Given the description of an element on the screen output the (x, y) to click on. 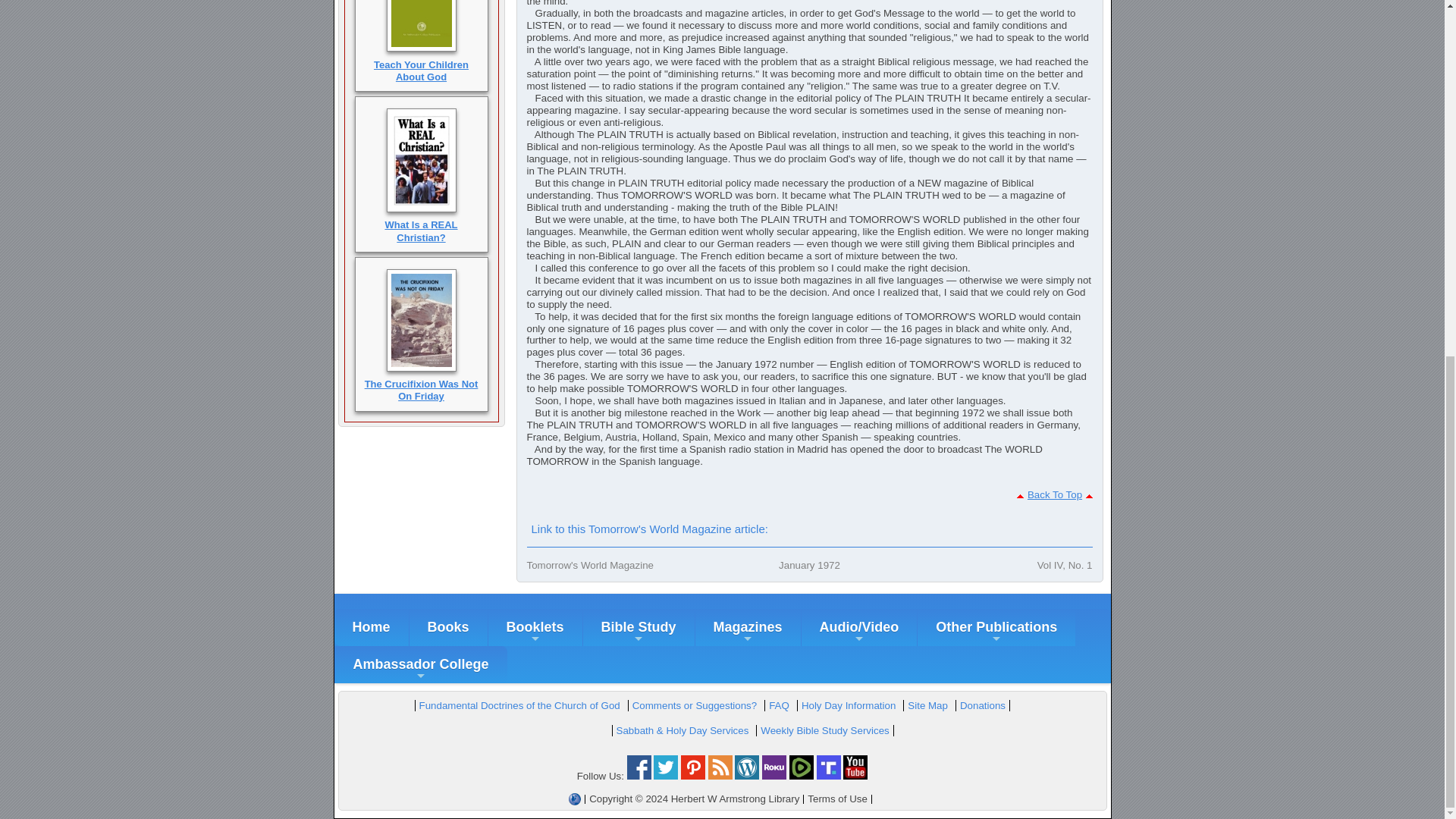
Worldwide Church of God (574, 799)
HWALibrary - Roku TV (773, 776)
HWALibrary - Rumble (801, 776)
Link to this Tomorrow's World Magazine article: (648, 528)
HWALibrary - YouTube (855, 776)
HWALibrary - Wordpress (746, 776)
HWALibrary - RSS Feed (719, 776)
HWALibrary - Twitter (665, 776)
HWALibrary - Facebook (638, 776)
HWALibrary - Pinterest (692, 776)
